Given the description of an element on the screen output the (x, y) to click on. 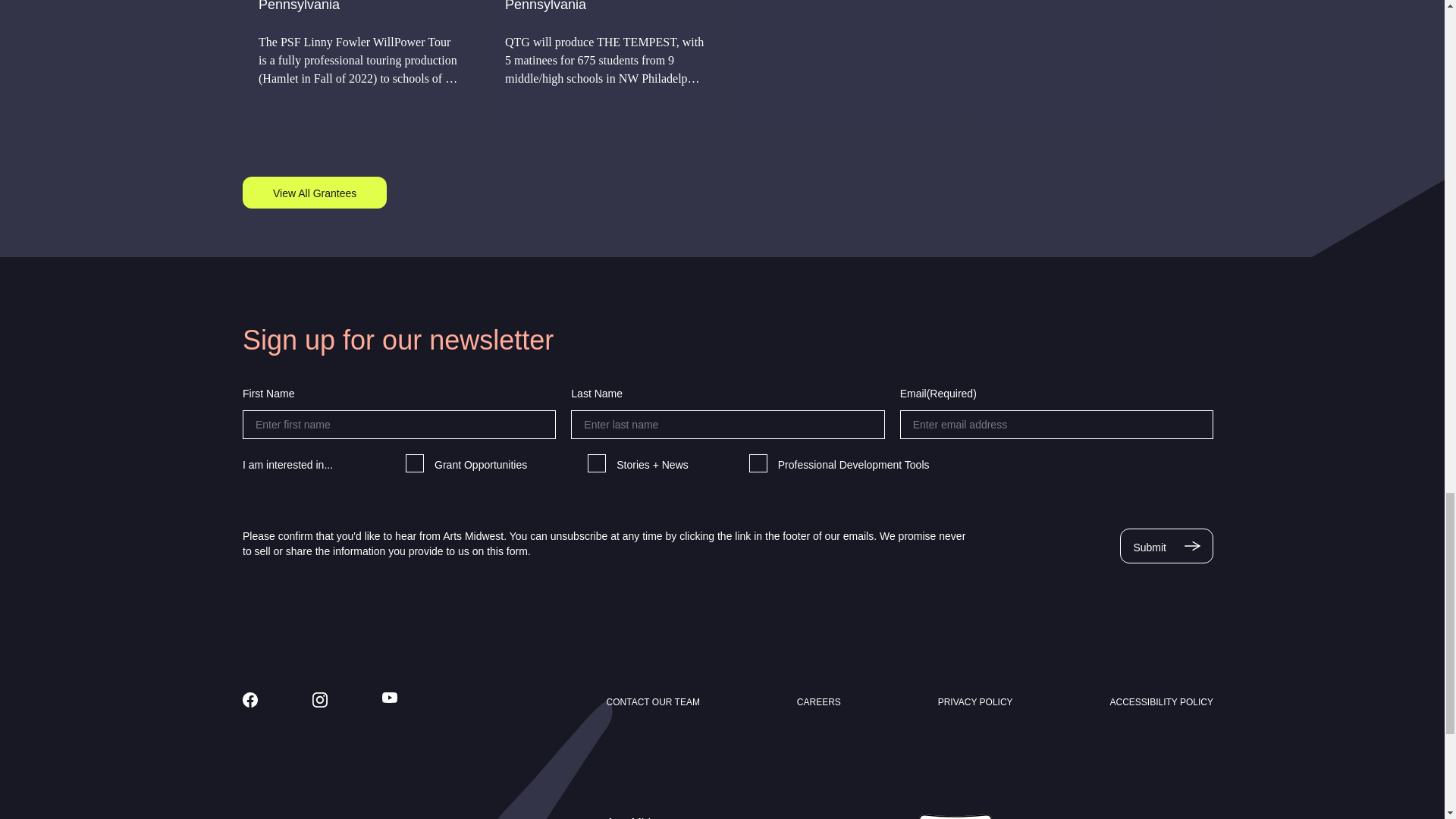
Grant Opportunities (414, 463)
Follow us on Facebook (250, 699)
Careers (818, 701)
Contact Our Team (653, 701)
Accessibility Policy (1160, 701)
Privacy Policy (975, 701)
Arts Midwest on Charity Navigator (954, 816)
Follow us on Instagram (320, 699)
Follow us on Youtube (389, 697)
National Endowment for the Arts (1114, 816)
